Given the description of an element on the screen output the (x, y) to click on. 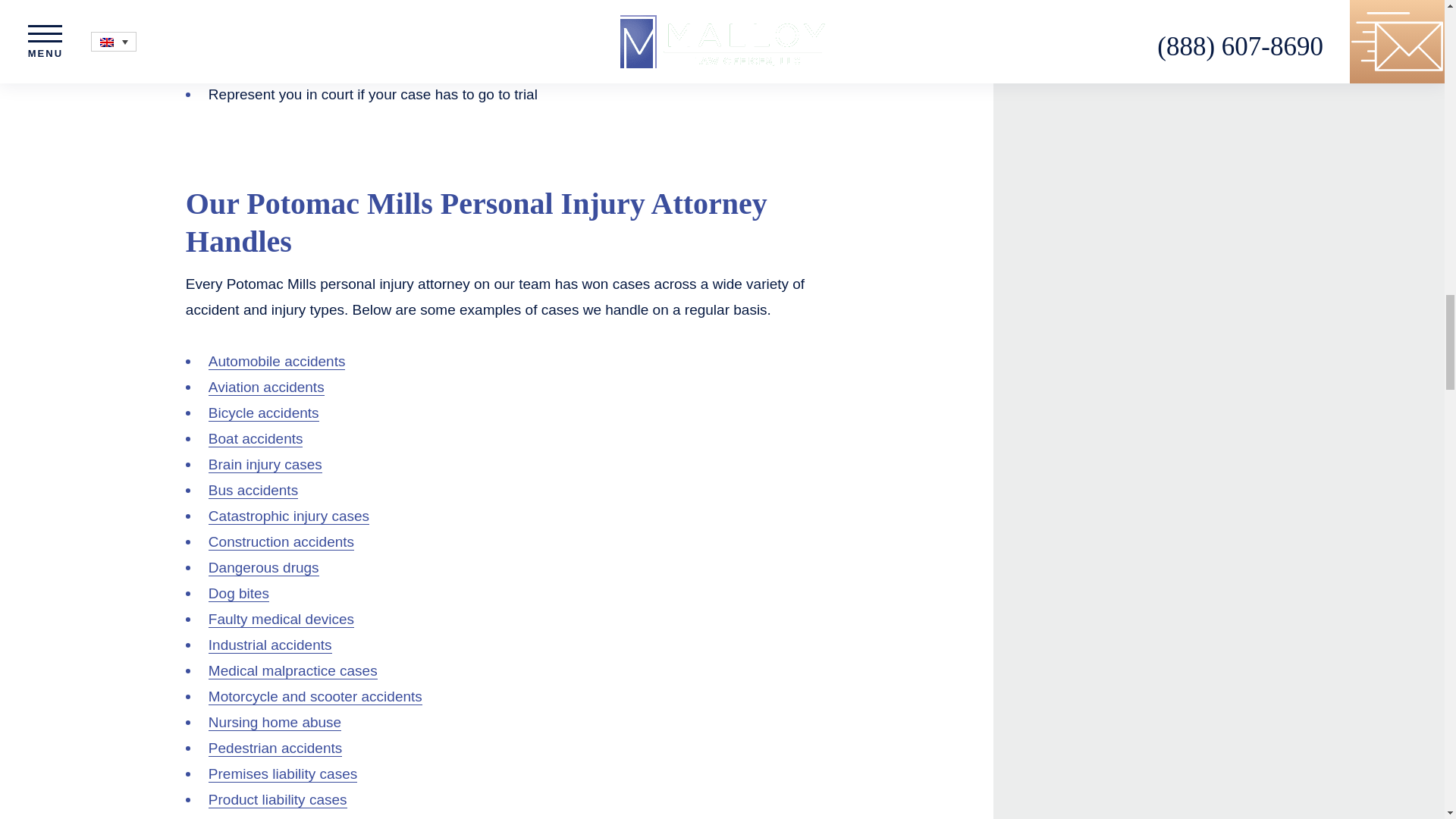
Bicycle accidents (263, 412)
Automobile accidents (277, 361)
Boat accidents (255, 438)
Aviation accidents (266, 387)
